Given the description of an element on the screen output the (x, y) to click on. 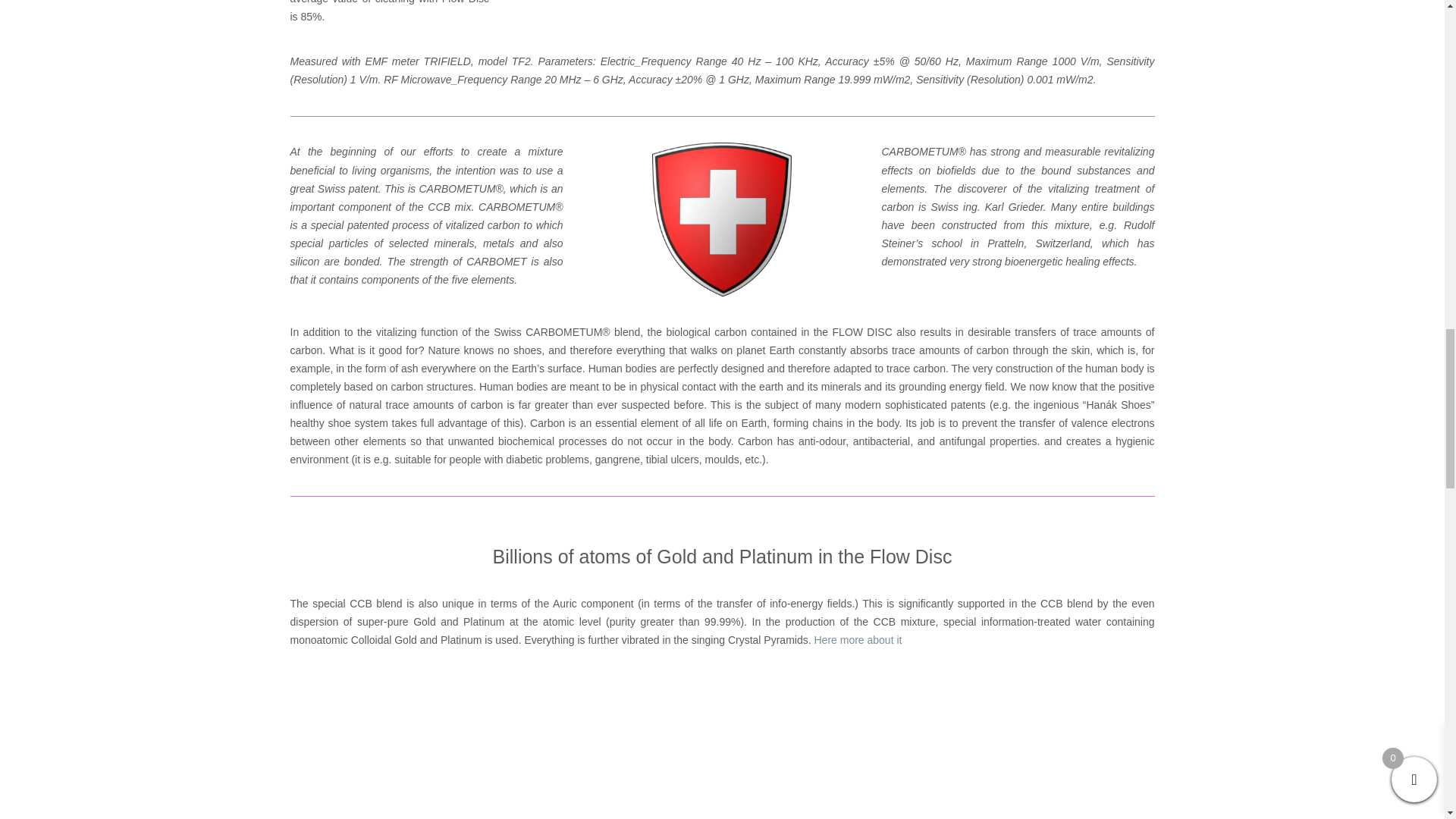
Environmental cleaning with Flow Disc - Measurement (833, 5)
Here more about it (857, 639)
